Given the description of an element on the screen output the (x, y) to click on. 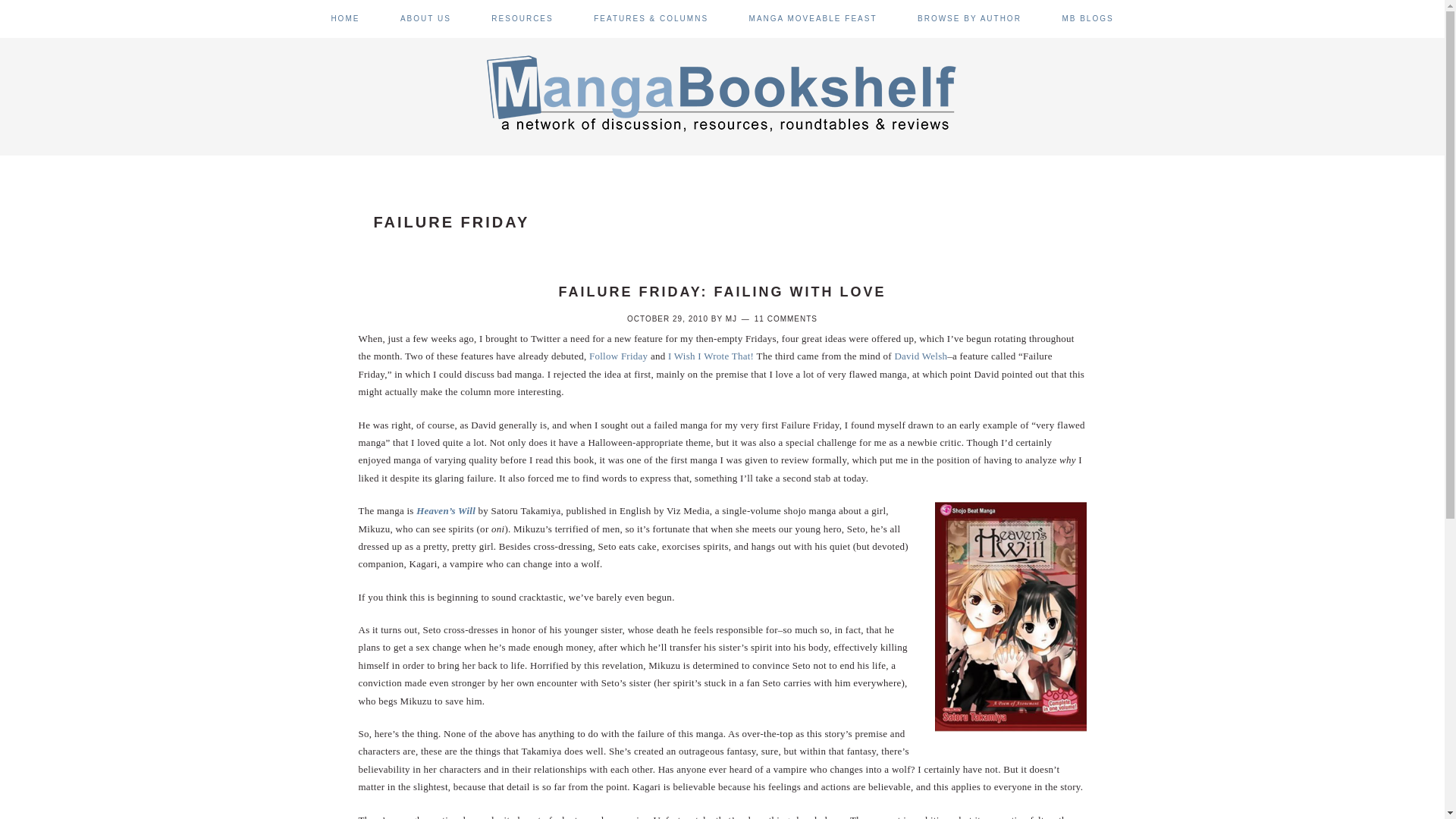
ABOUT US (425, 18)
MANGA MOVEABLE FEAST (813, 18)
Posts by MJ (730, 318)
RESOURCES (521, 18)
HOME (344, 18)
